Given the description of an element on the screen output the (x, y) to click on. 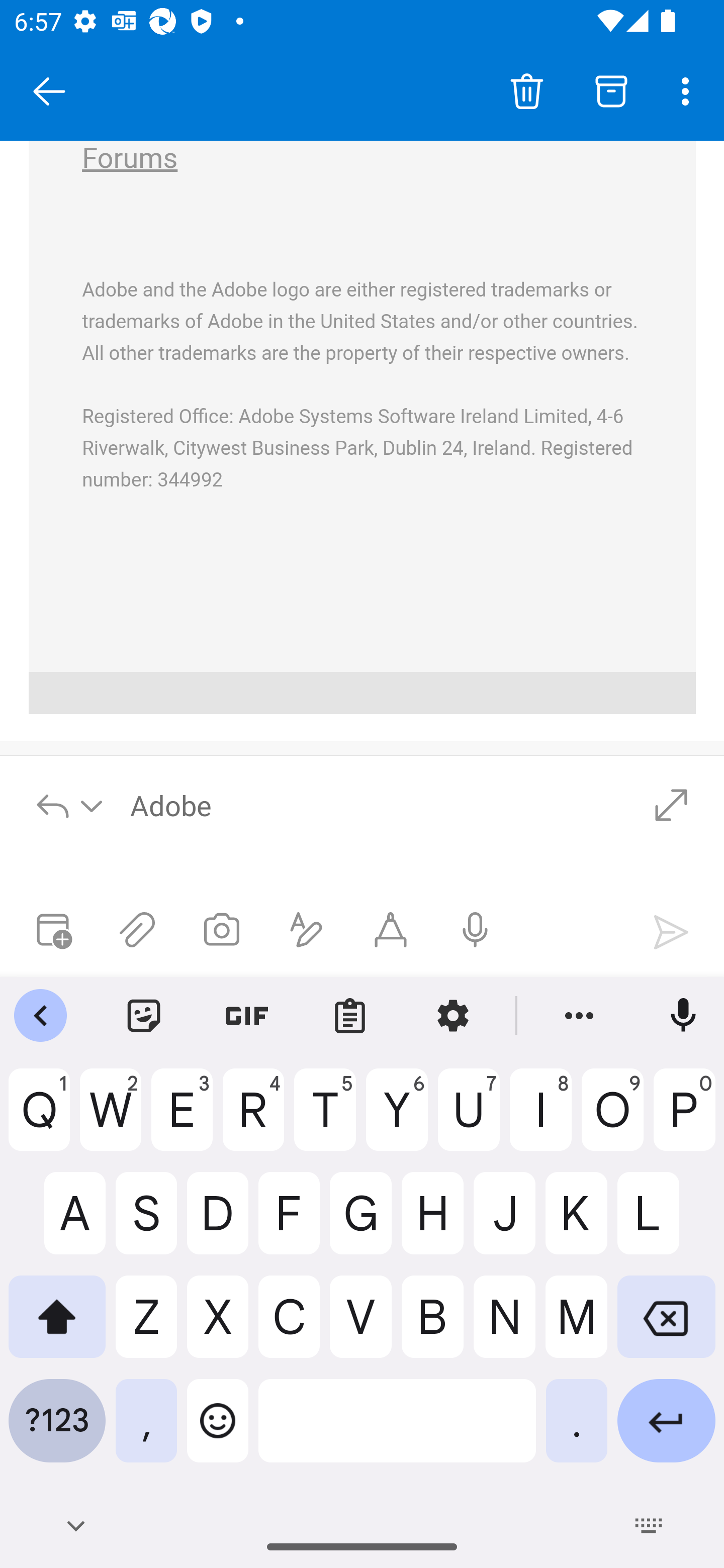
Close (49, 91)
Delete (526, 90)
Archive (611, 90)
More options (688, 90)
Forums (129, 159)
Reply options (70, 804)
To Adobe (374, 804)
Open in full screen view (671, 804)
Attach meeting (52, 929)
Attach files (136, 929)
Take a photo (221, 929)
Show formatting options (306, 929)
Start Ink compose (390, 929)
Dictation (474, 929)
Send (671, 931)
